Given the description of an element on the screen output the (x, y) to click on. 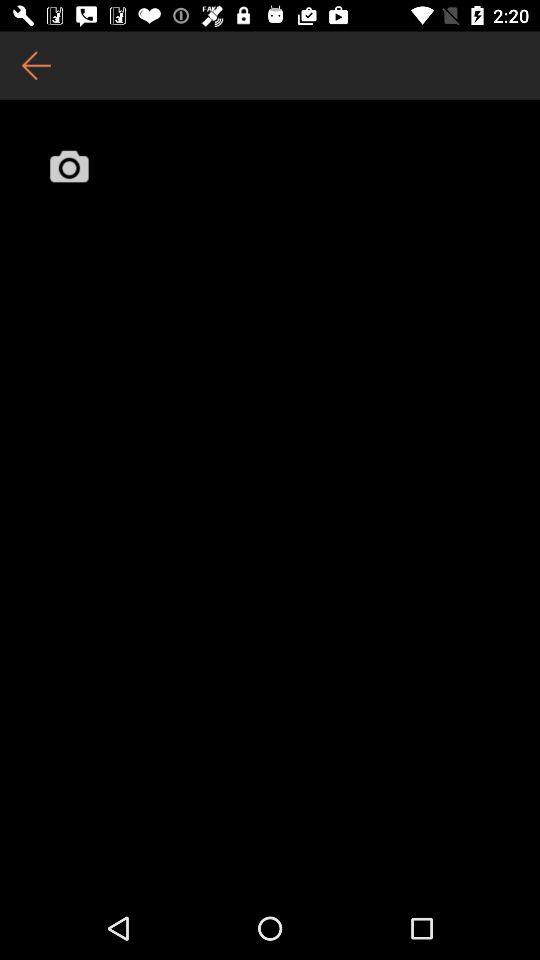
it will take a picture (69, 166)
